Given the description of an element on the screen output the (x, y) to click on. 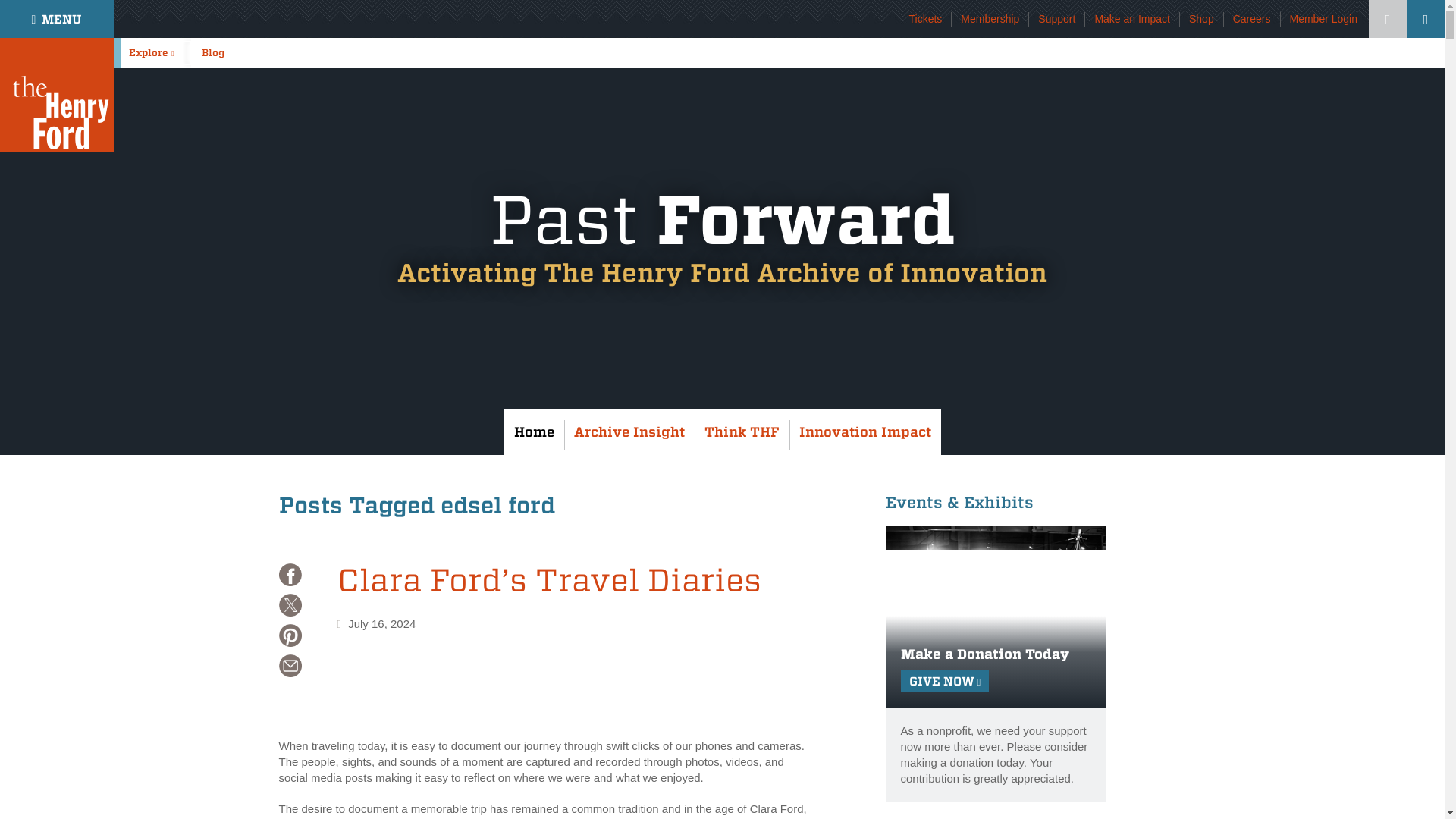
MENU (56, 18)
Tickets (925, 19)
Membership (989, 19)
Support (1056, 19)
Blog (220, 52)
Member Login (1322, 19)
Explore (155, 52)
Shop (1201, 19)
Make an Impact (1132, 19)
Careers (1252, 19)
